Given the description of an element on the screen output the (x, y) to click on. 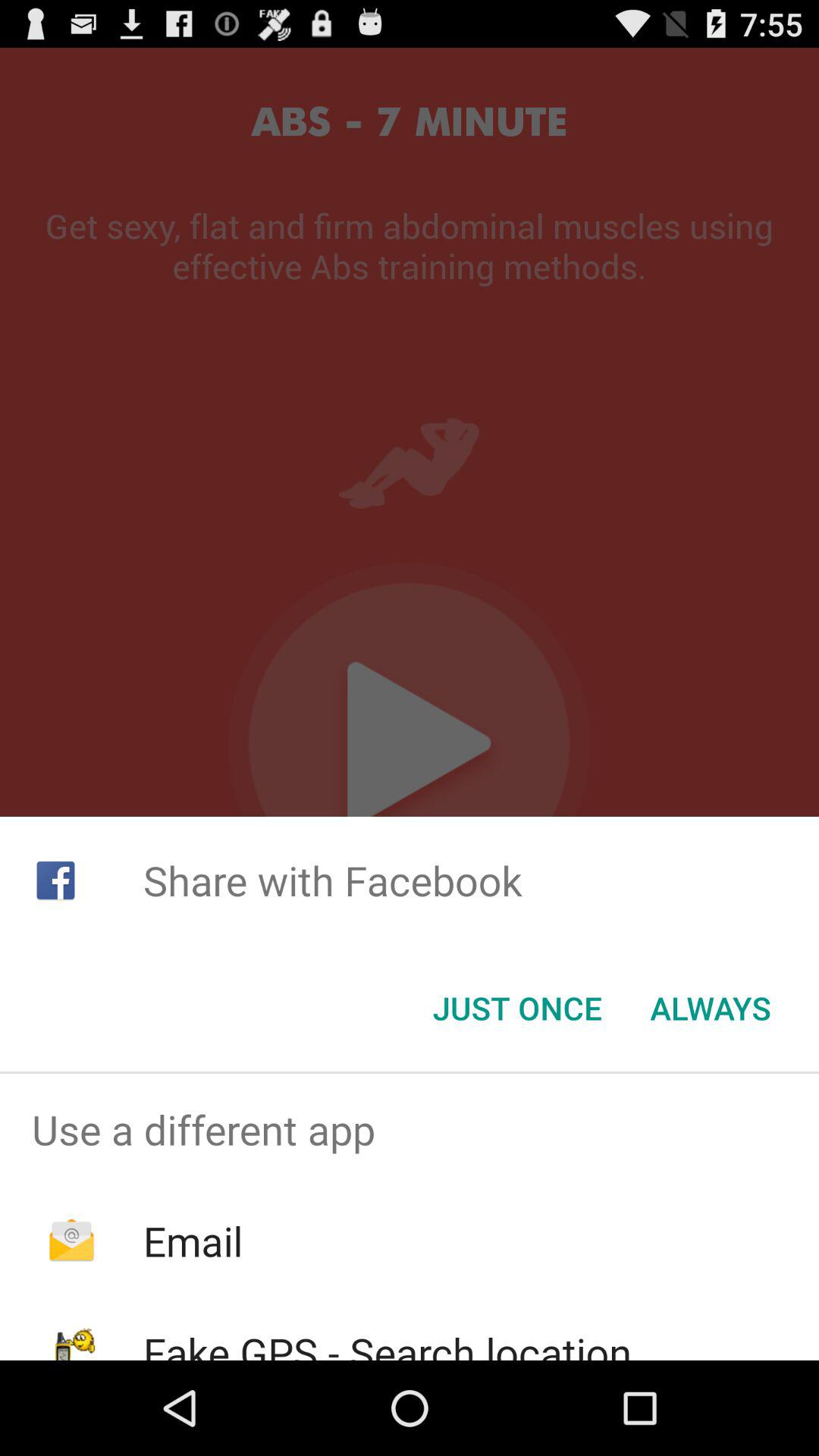
click app above the email icon (409, 1129)
